Given the description of an element on the screen output the (x, y) to click on. 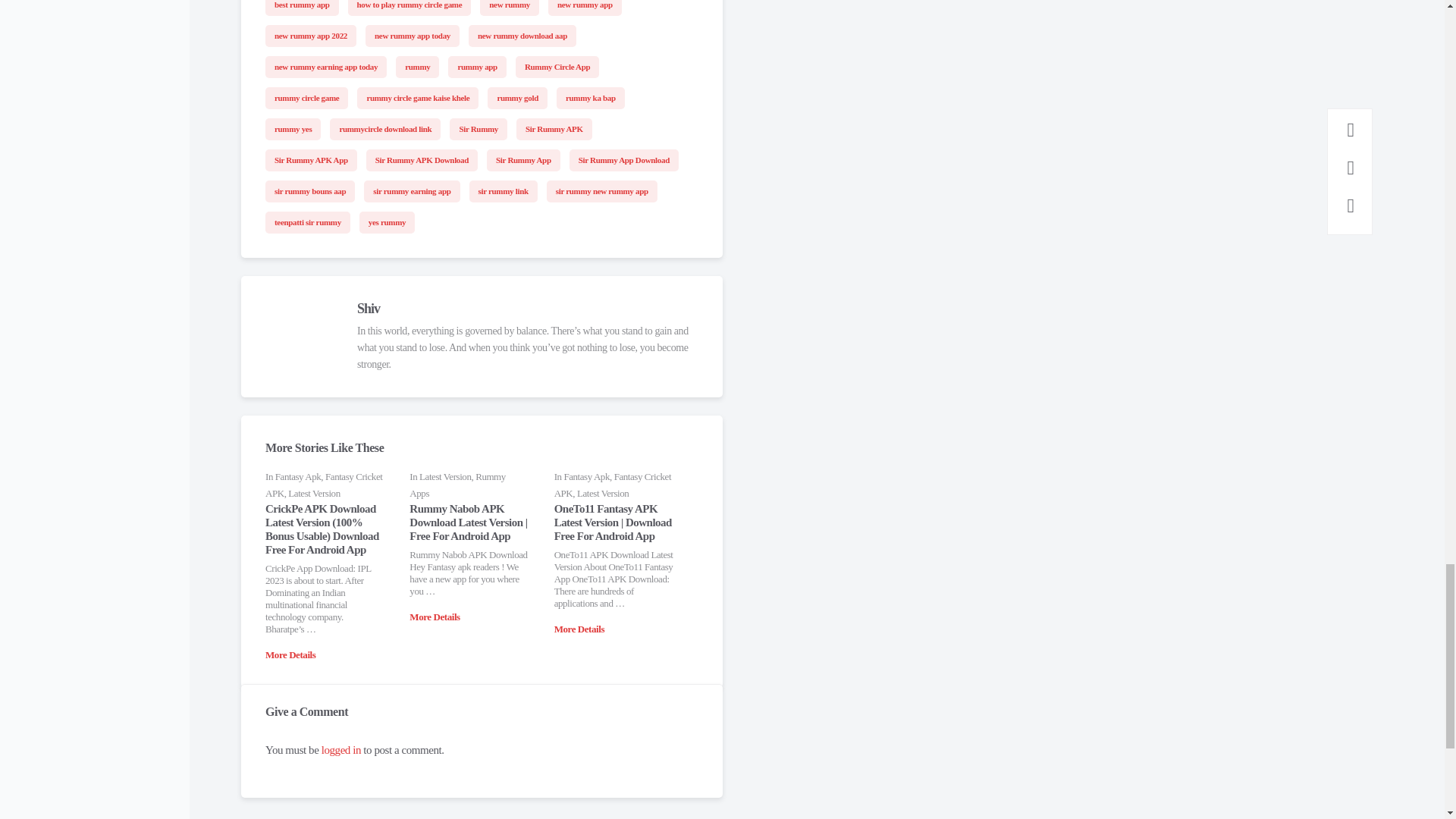
View all posts in Fantasy Apk (298, 476)
View all posts in Latest Version (313, 492)
View all posts in Fantasy Cricket APK (322, 484)
